Given the description of an element on the screen output the (x, y) to click on. 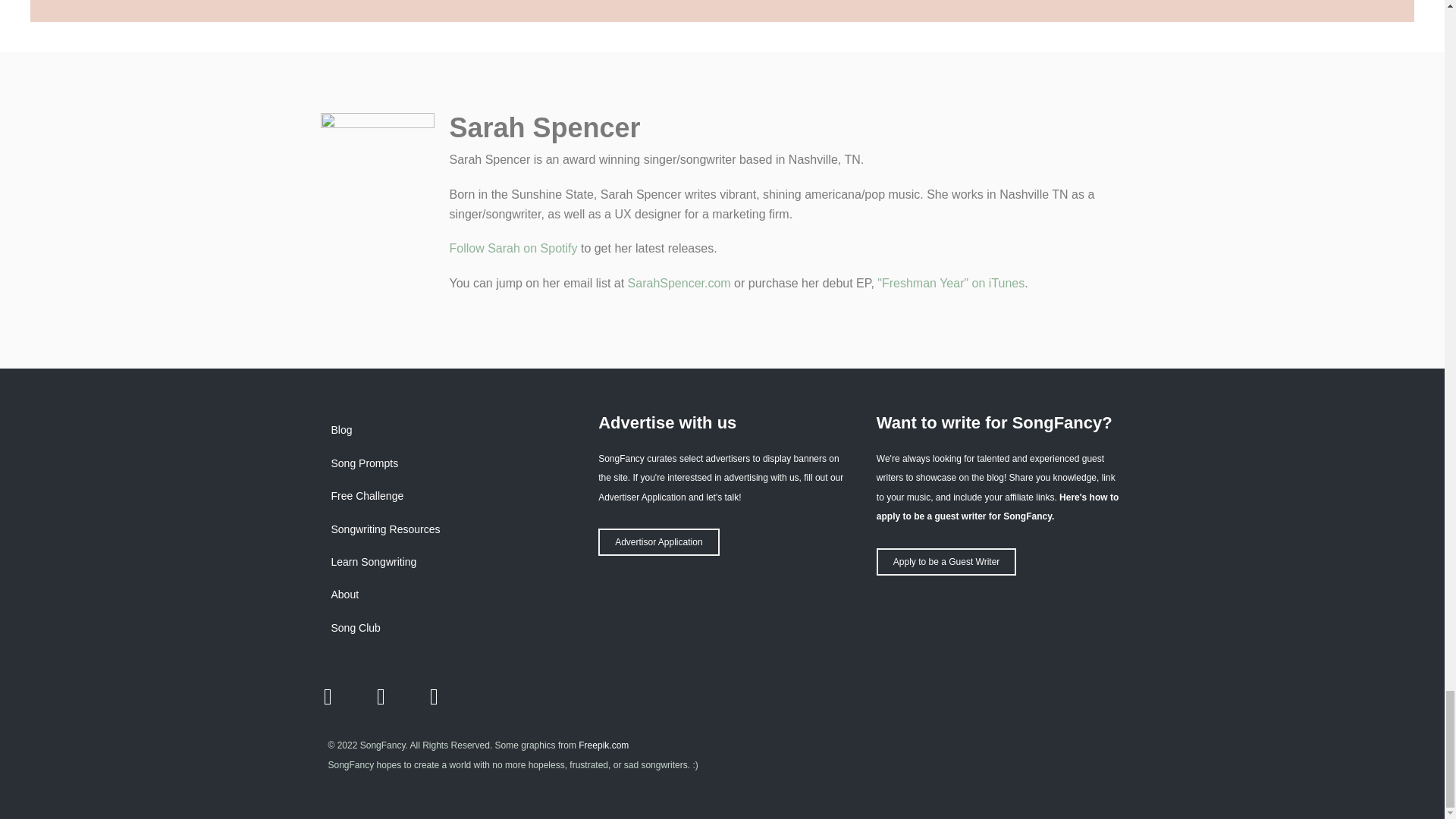
About SongFancy (443, 594)
